Given the description of an element on the screen output the (x, y) to click on. 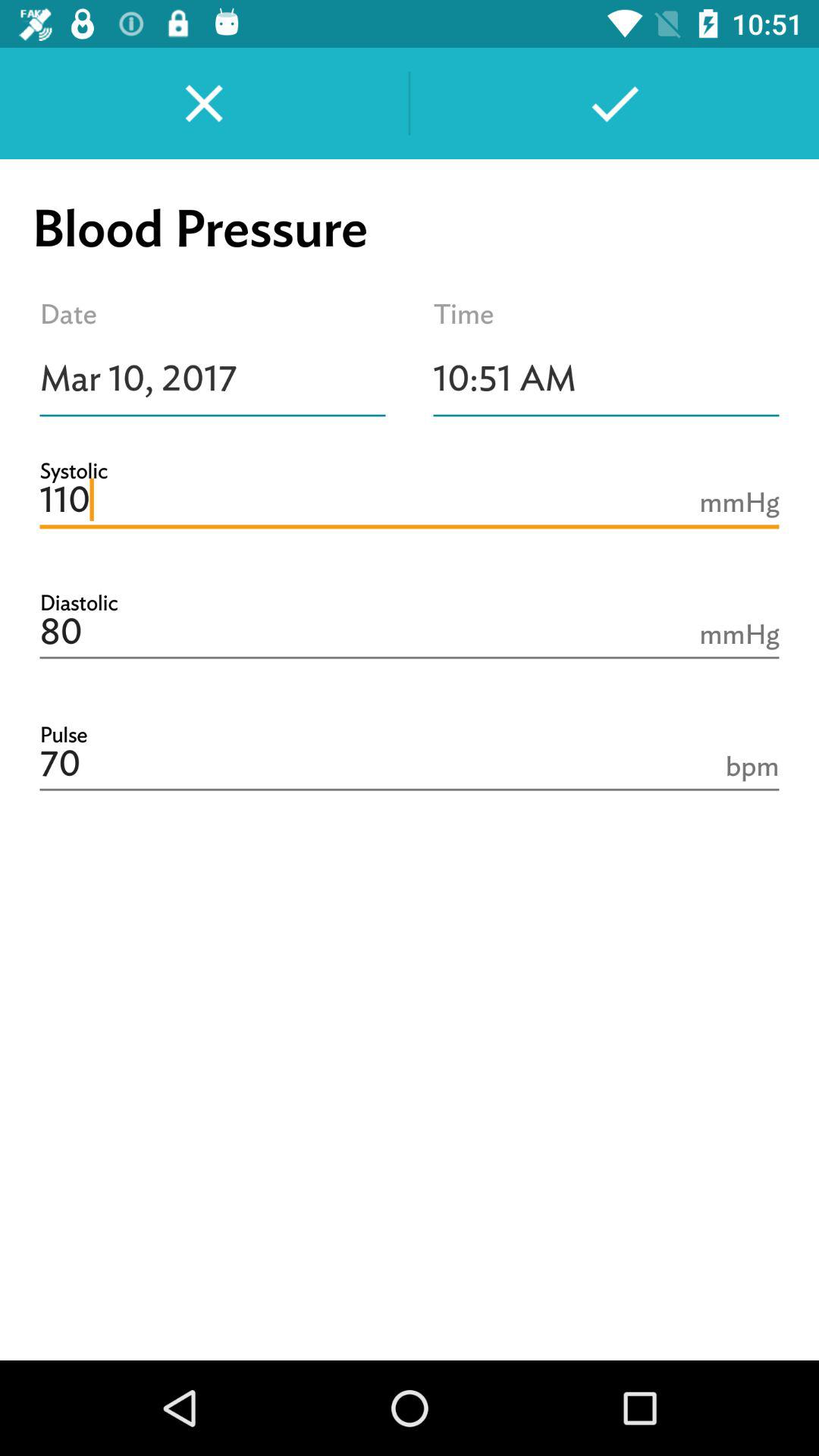
turn on icon below 80 (409, 764)
